Given the description of an element on the screen output the (x, y) to click on. 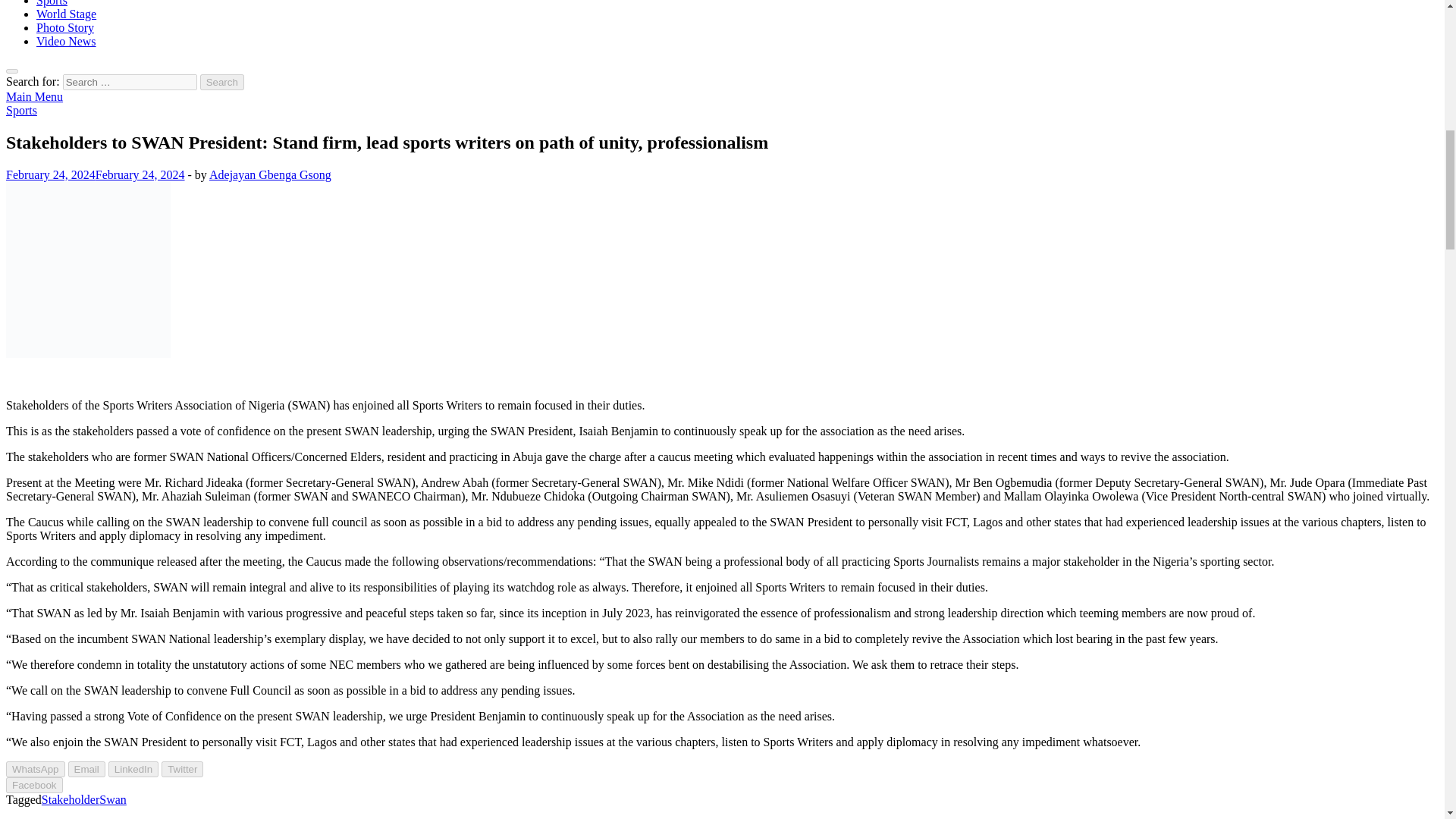
Search (222, 82)
Search (222, 82)
